Given the description of an element on the screen output the (x, y) to click on. 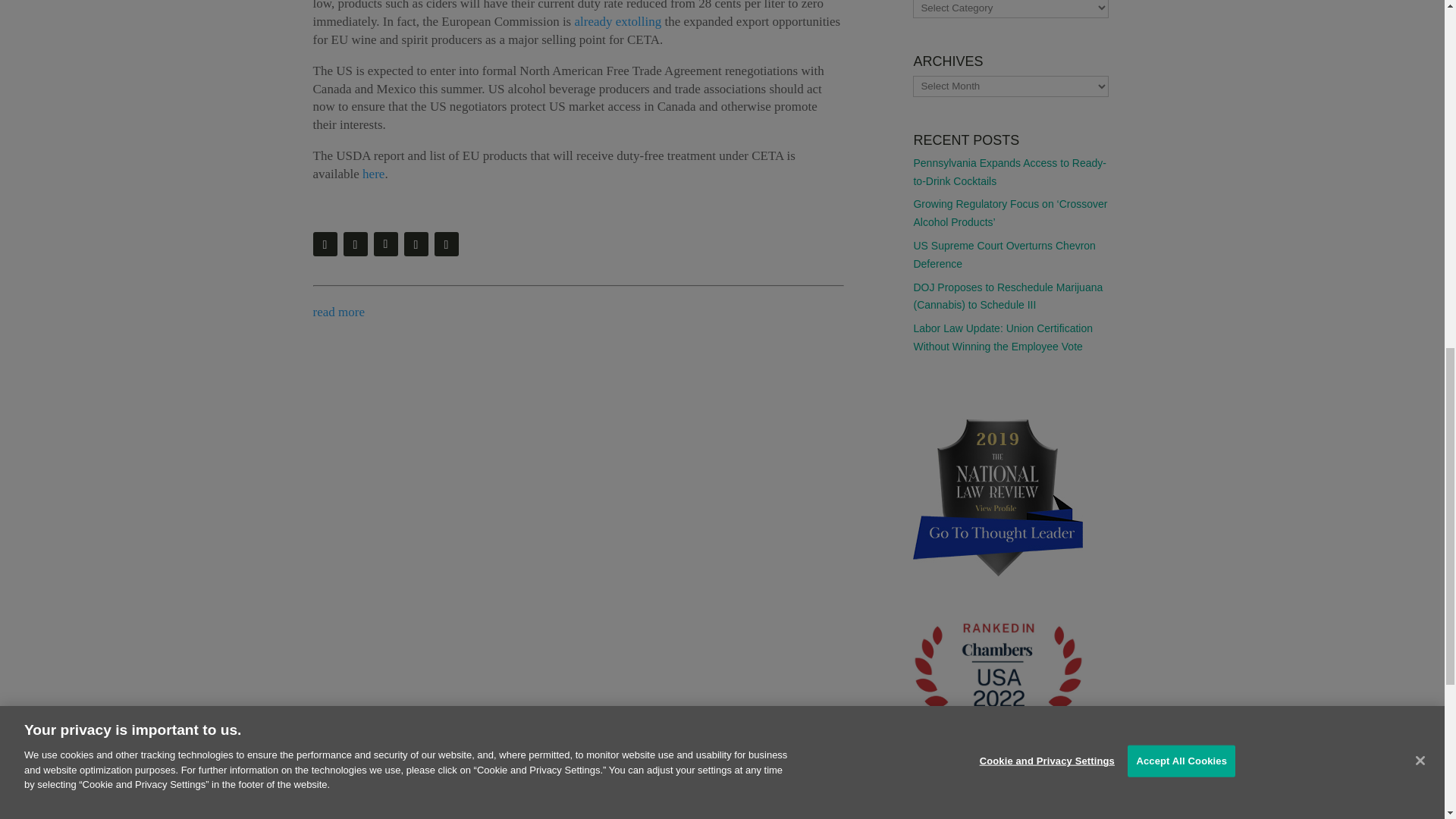
E-Mail (354, 243)
Share on X (384, 243)
Print (324, 243)
Share on Facebook (415, 243)
Share on LinkedIn (445, 243)
